Given the description of an element on the screen output the (x, y) to click on. 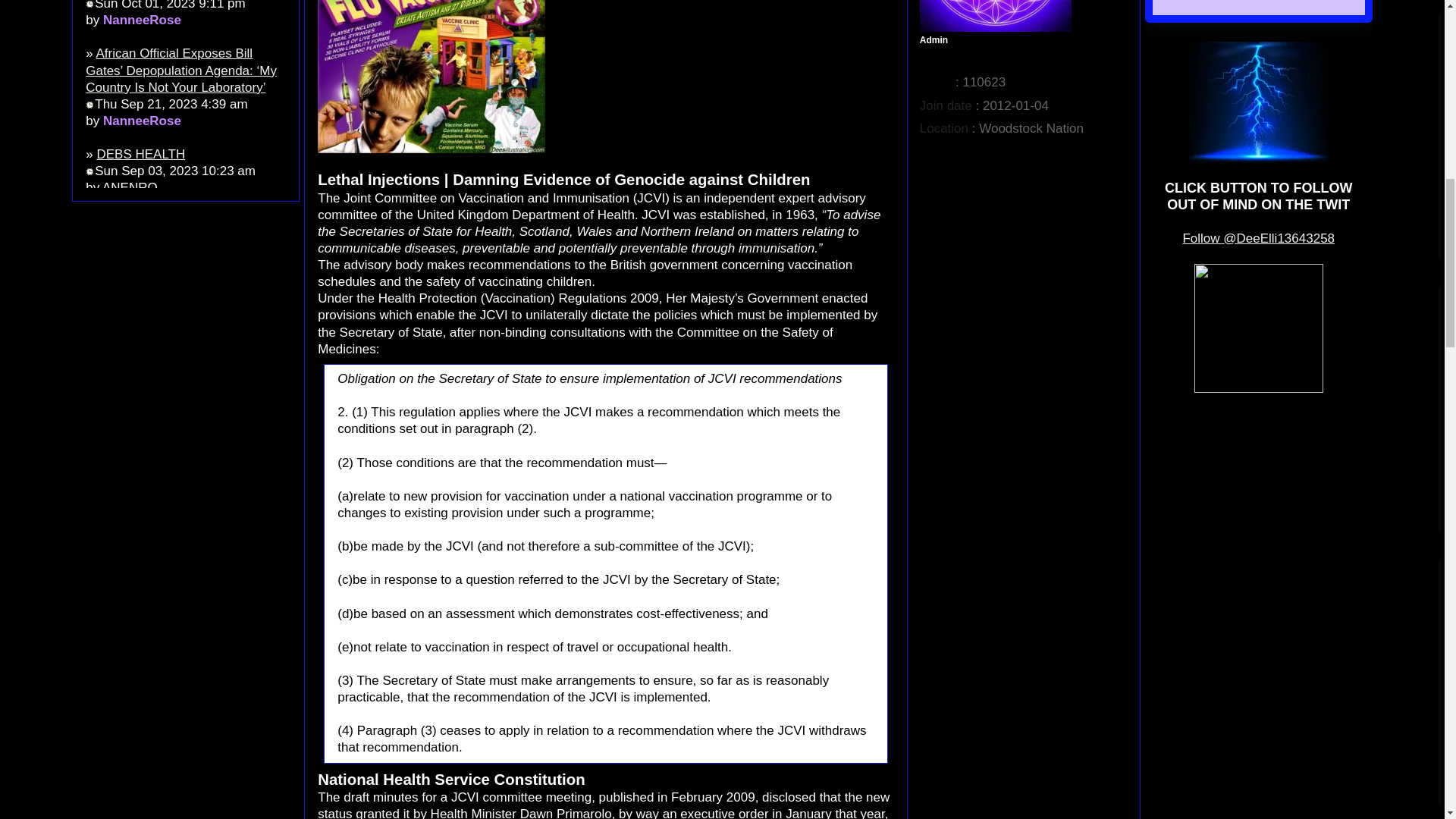
DEBS HEALTH (140, 154)
DEBS HEALTH (140, 154)
